Given the description of an element on the screen output the (x, y) to click on. 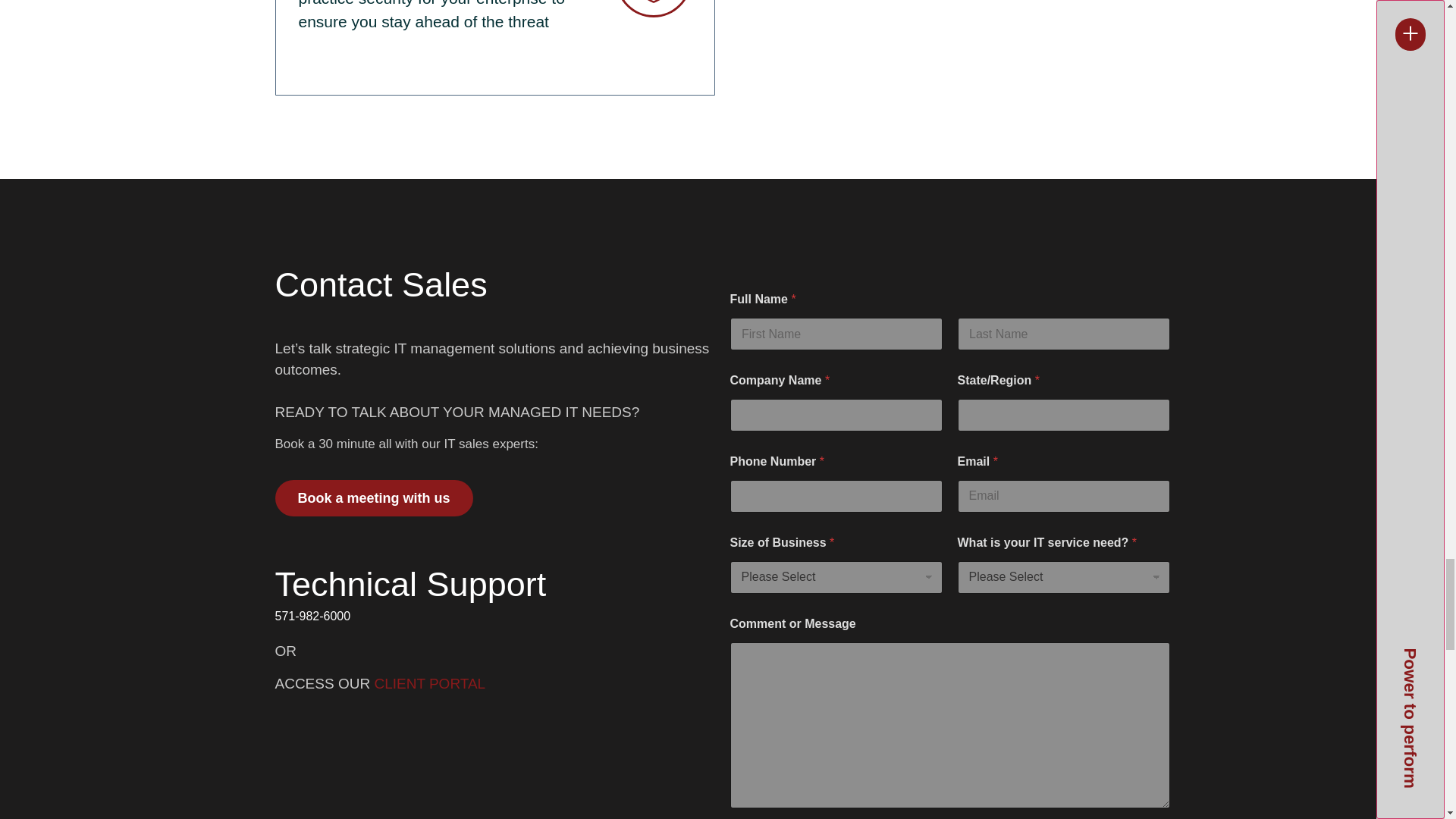
Book a meeting with us (373, 497)
CLIENT PORTAL (429, 683)
571-982-6000 (494, 616)
